Given the description of an element on the screen output the (x, y) to click on. 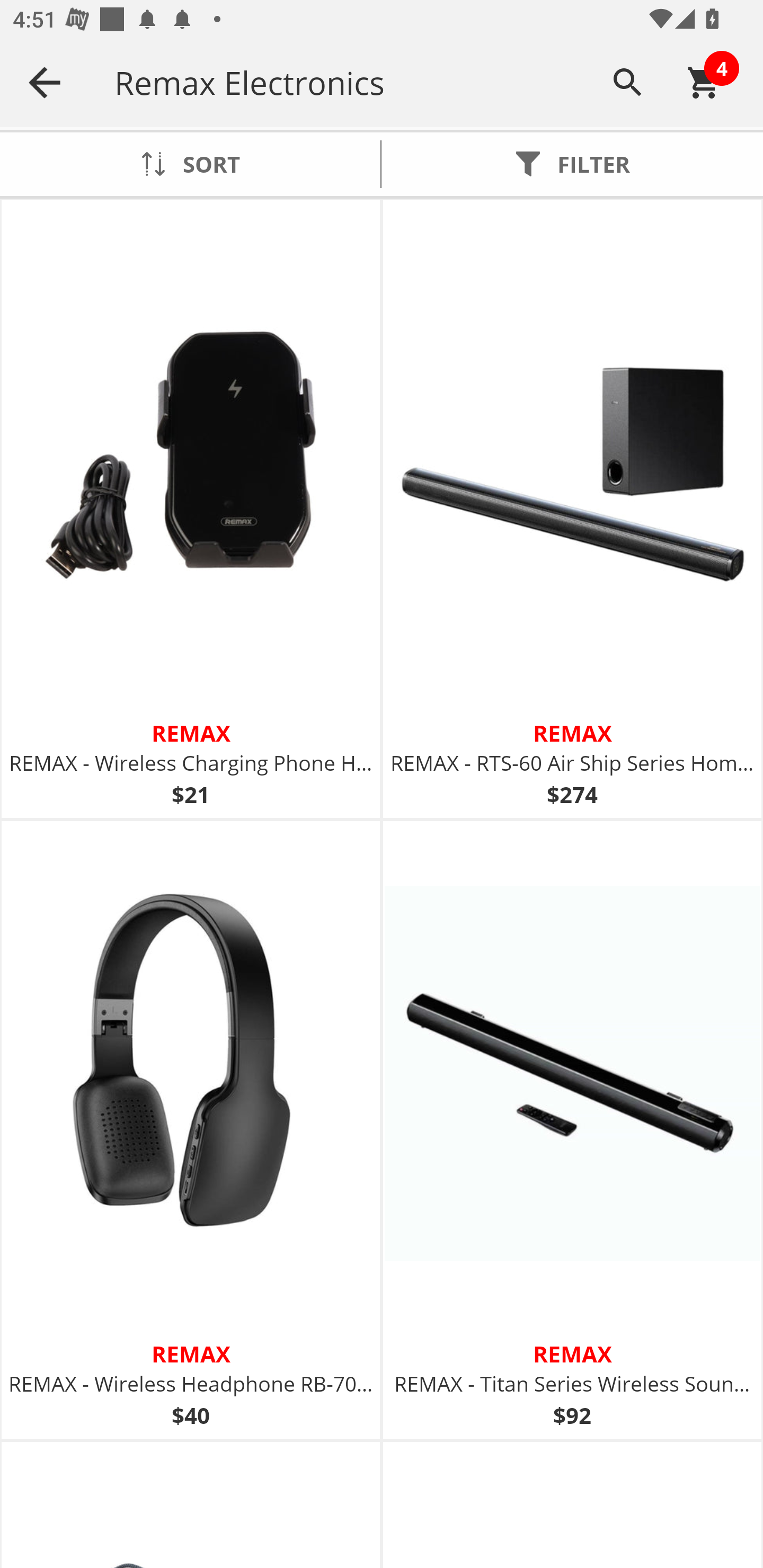
Navigate up (44, 82)
SORT (190, 163)
FILTER (572, 163)
REMAX REMAX - Wireless Charging Phone Holder $21 (190, 509)
REMAX REMAX - Titan Series Wireless Soundbar $92 (572, 1130)
